Given the description of an element on the screen output the (x, y) to click on. 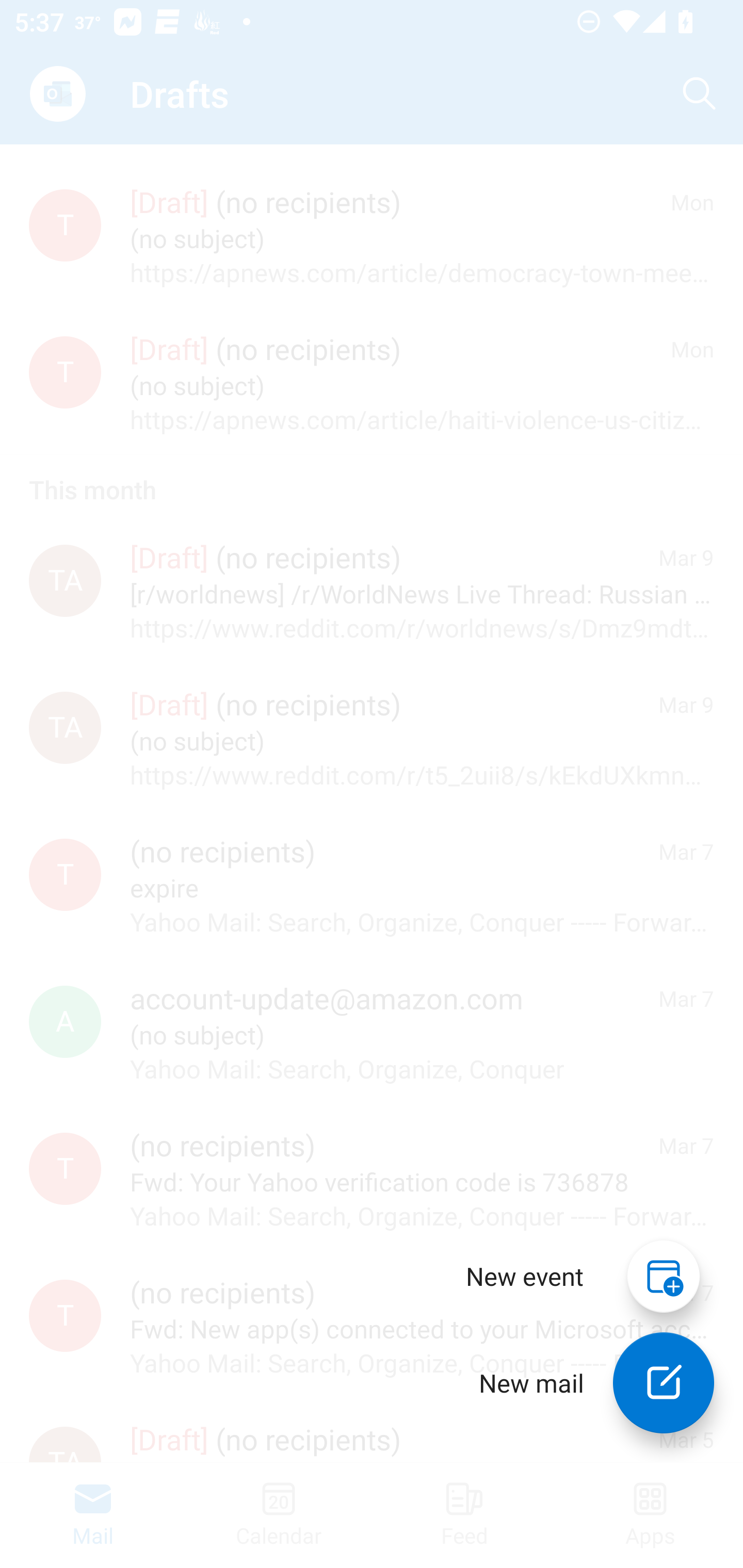
New event (524, 1275)
New mail New mail New mail (582, 1382)
New mail (663, 1382)
